Given the description of an element on the screen output the (x, y) to click on. 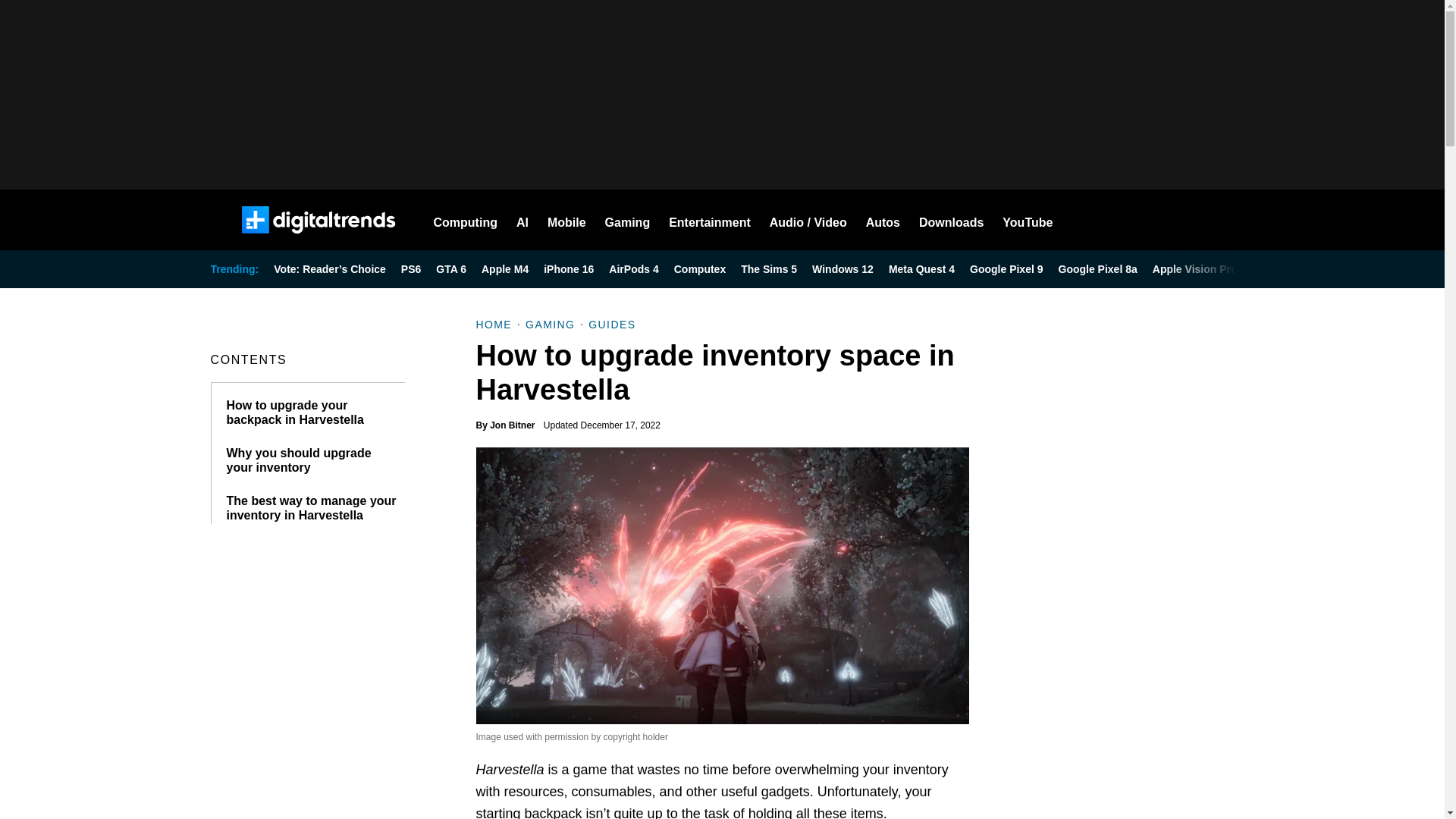
Entertainment (709, 219)
Computing (465, 219)
Downloads (951, 219)
